Given the description of an element on the screen output the (x, y) to click on. 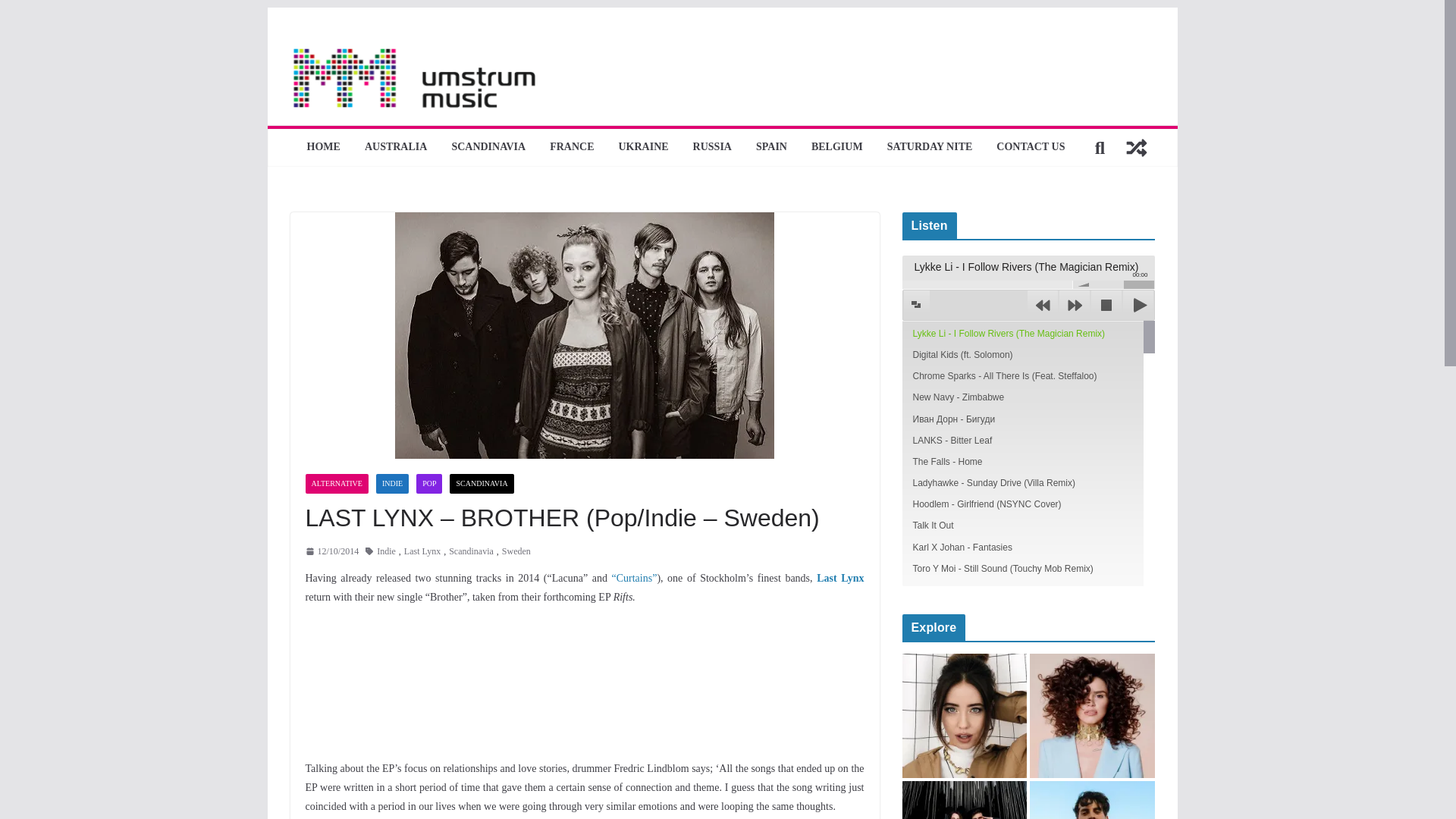
ALTERNATIVE (336, 483)
Last Lynx (422, 551)
Last Lynx (839, 577)
CONTACT US (1029, 147)
SCANDINAVIA (488, 147)
INDIE (392, 483)
SATURDAY NITE (929, 147)
Scandinavia (470, 551)
SCANDINAVIA (481, 483)
SPAIN (771, 147)
7:04 pm (331, 551)
HOME (323, 147)
Sweden (516, 551)
POP (429, 483)
FRANCE (572, 147)
